Given the description of an element on the screen output the (x, y) to click on. 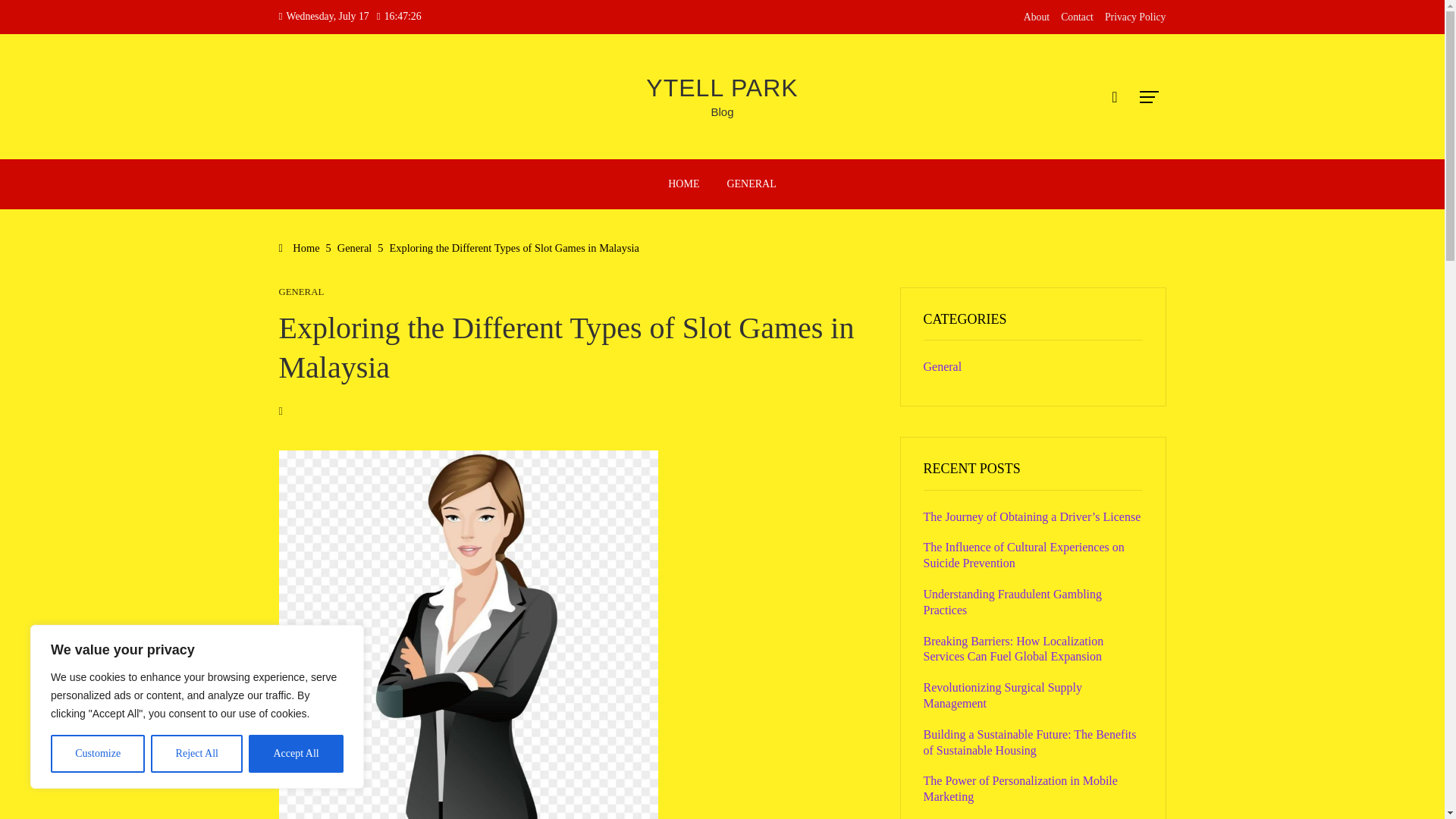
Reject All (197, 753)
About (1036, 17)
YTELL PARK (721, 87)
General (942, 366)
Accept All (295, 753)
Blog (721, 111)
General (354, 247)
Customize (97, 753)
GENERAL (301, 292)
GENERAL (750, 183)
HOME (683, 183)
Contact (1077, 17)
Privacy Policy (1135, 17)
Home (299, 247)
